Given the description of an element on the screen output the (x, y) to click on. 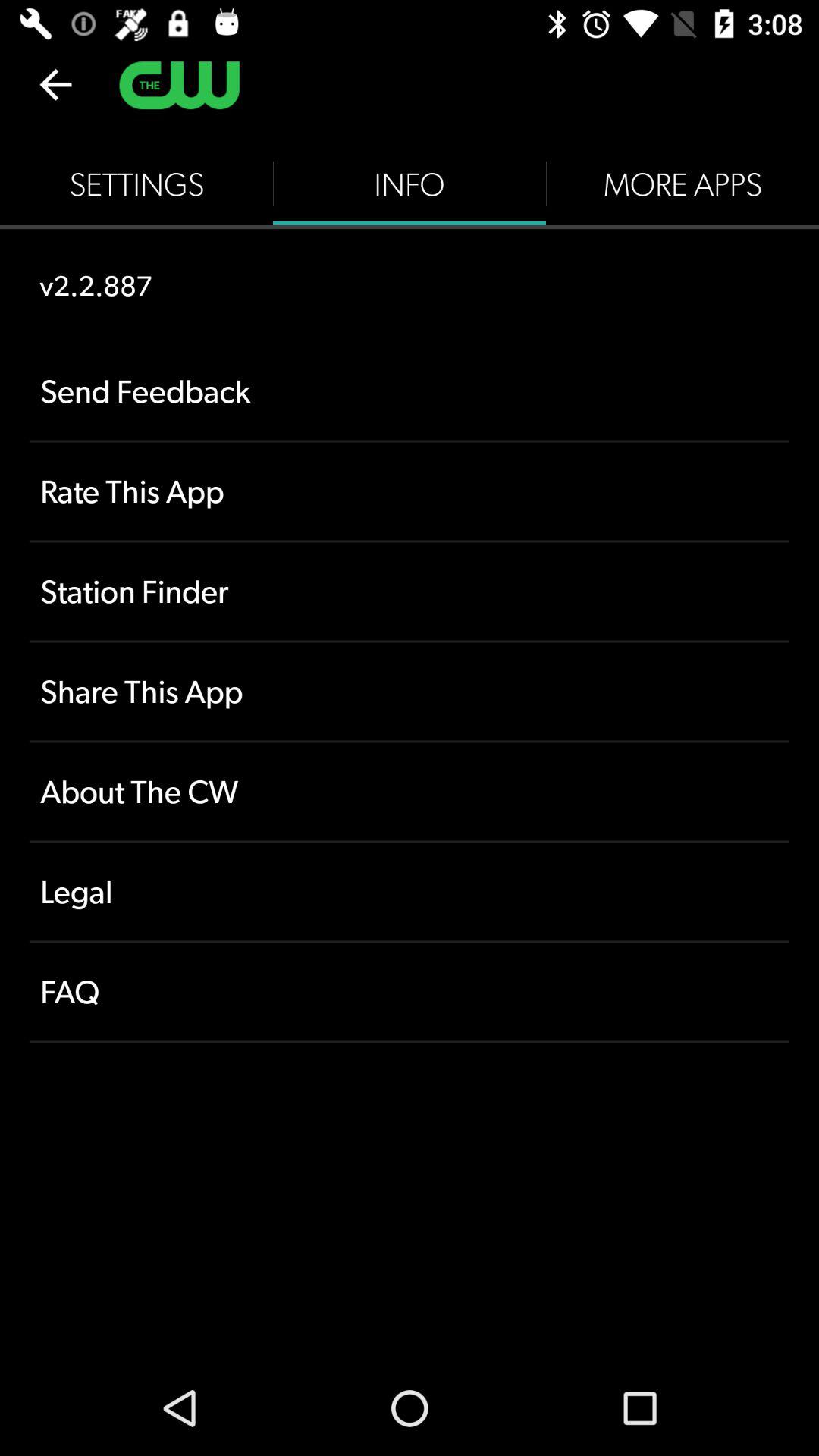
turn on item at the top right corner (682, 184)
